Given the description of an element on the screen output the (x, y) to click on. 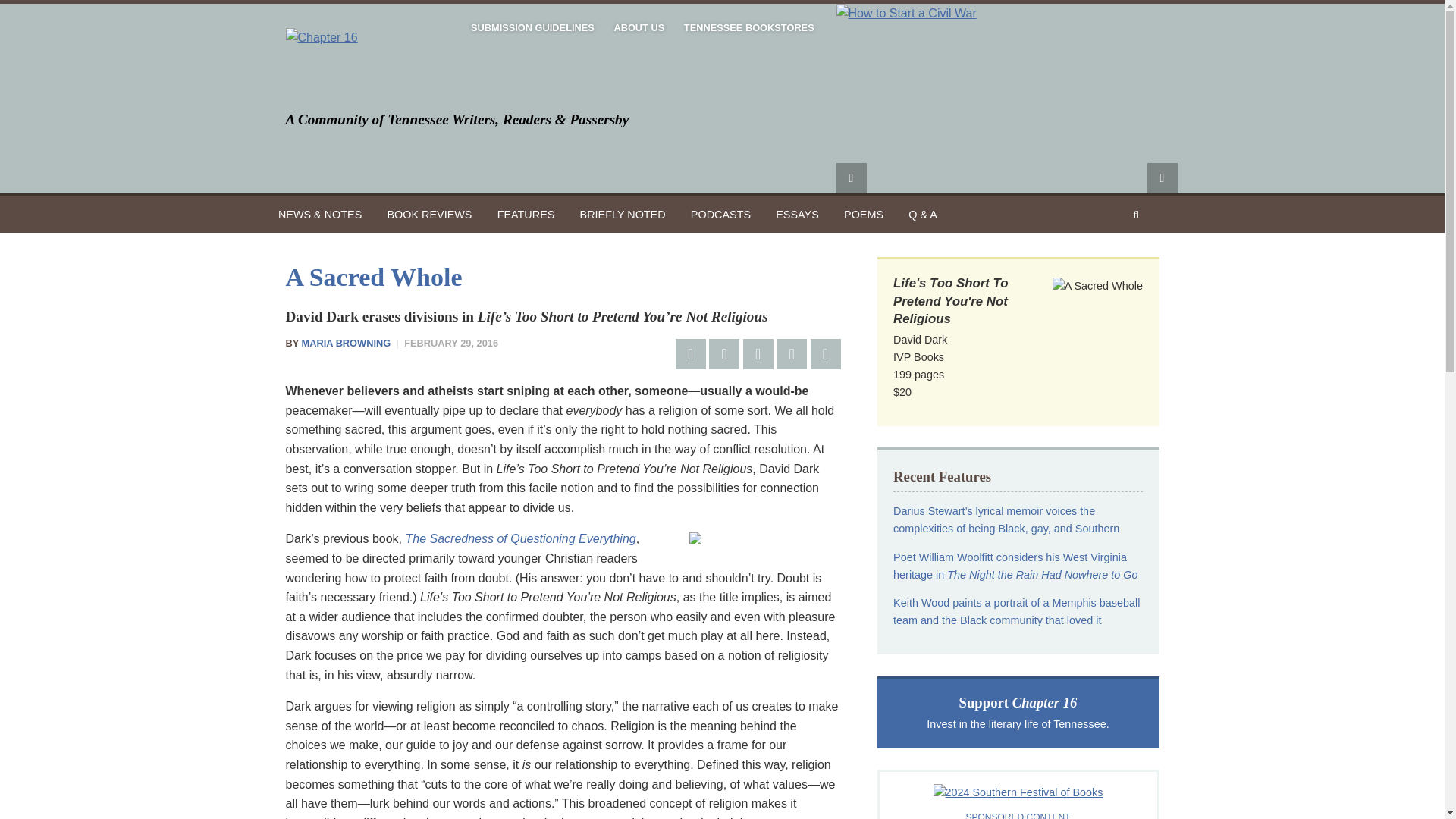
Tweet (724, 354)
Print (824, 354)
POEMS (863, 214)
ABOUT US (1017, 712)
MARIA BROWNING (639, 27)
BOOK REVIEWS (346, 342)
SUBMISSION GUIDELINES (429, 214)
